Given the description of an element on the screen output the (x, y) to click on. 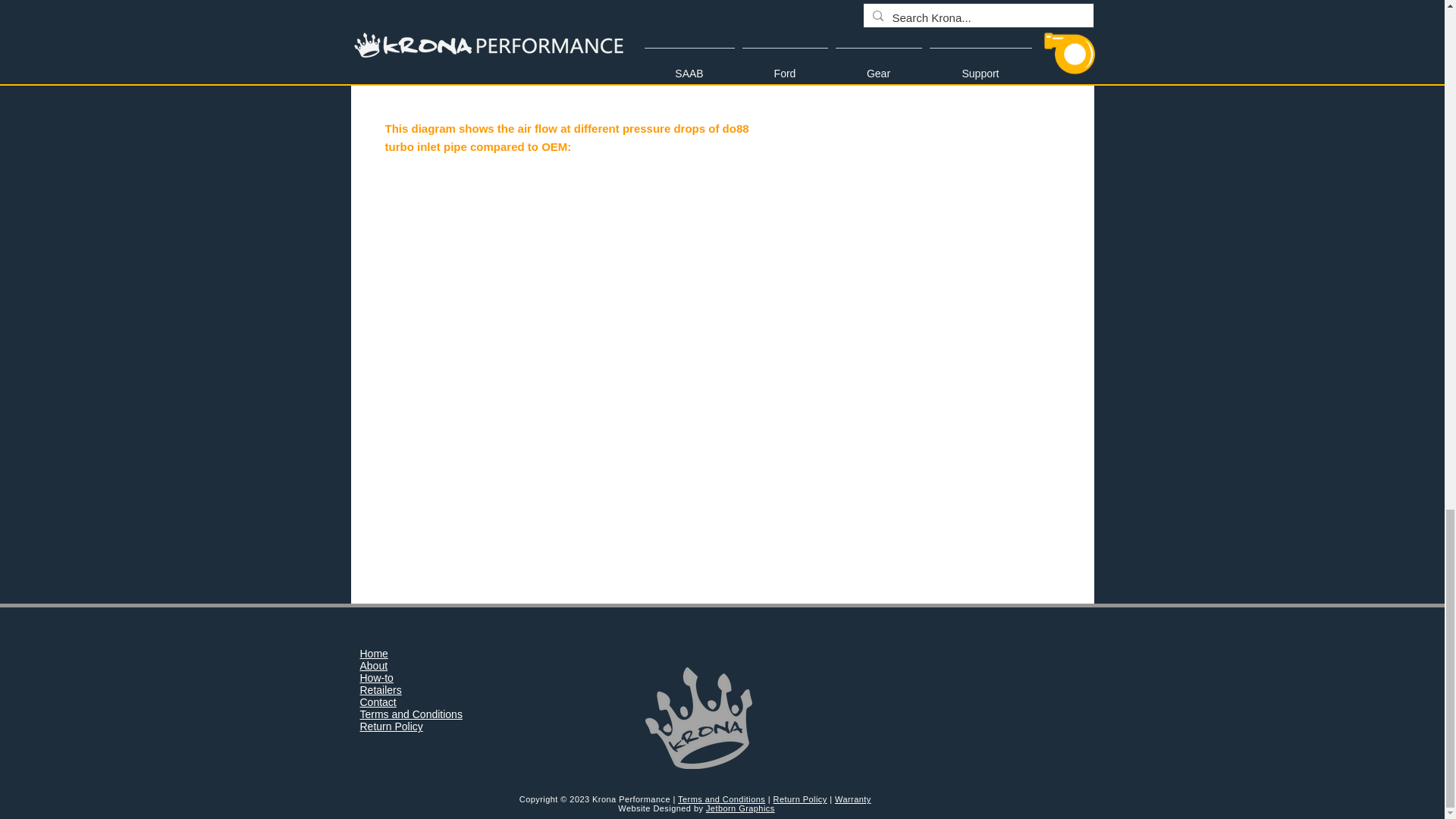
Terms and Conditions (721, 798)
Retailers (380, 689)
Return Policy (390, 726)
Terms and Conditions (410, 714)
How-to (376, 677)
Contact (377, 702)
Warranty (852, 798)
Home (373, 653)
Return Policy (800, 798)
About (373, 665)
Jetborn Graphics (740, 808)
